Given the description of an element on the screen output the (x, y) to click on. 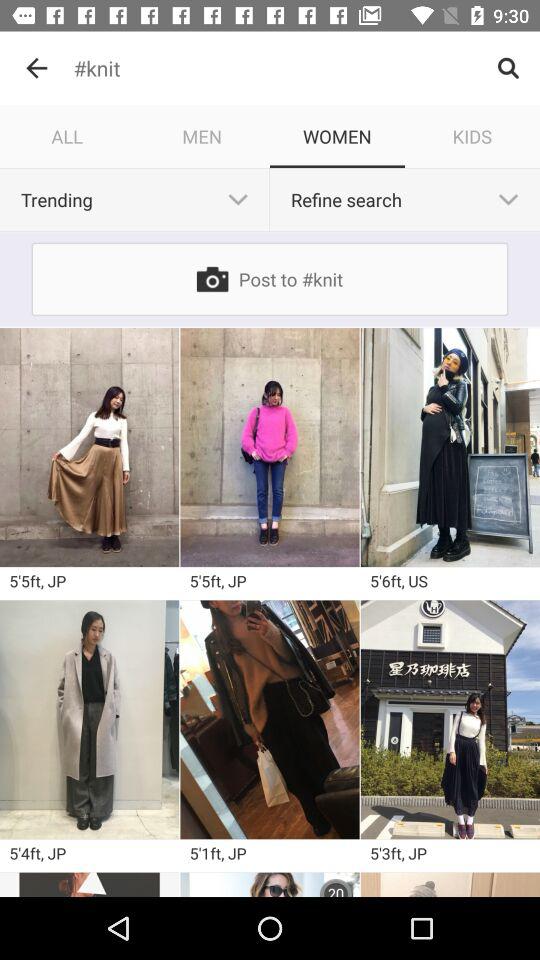
share the article (89, 884)
